Given the description of an element on the screen output the (x, y) to click on. 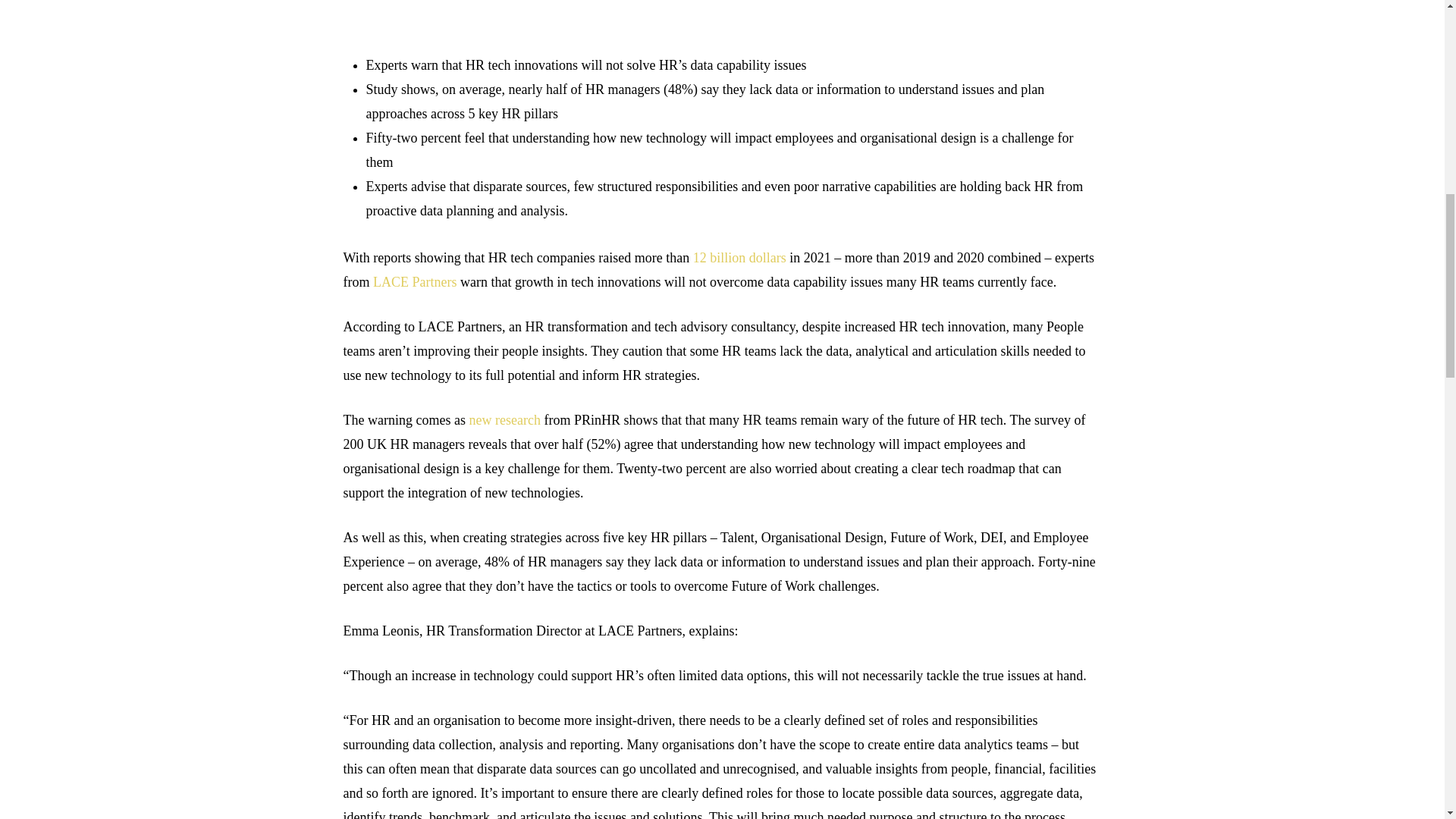
12 billion dollars (739, 257)
LACE Partners (414, 281)
new research (504, 419)
